Given the description of an element on the screen output the (x, y) to click on. 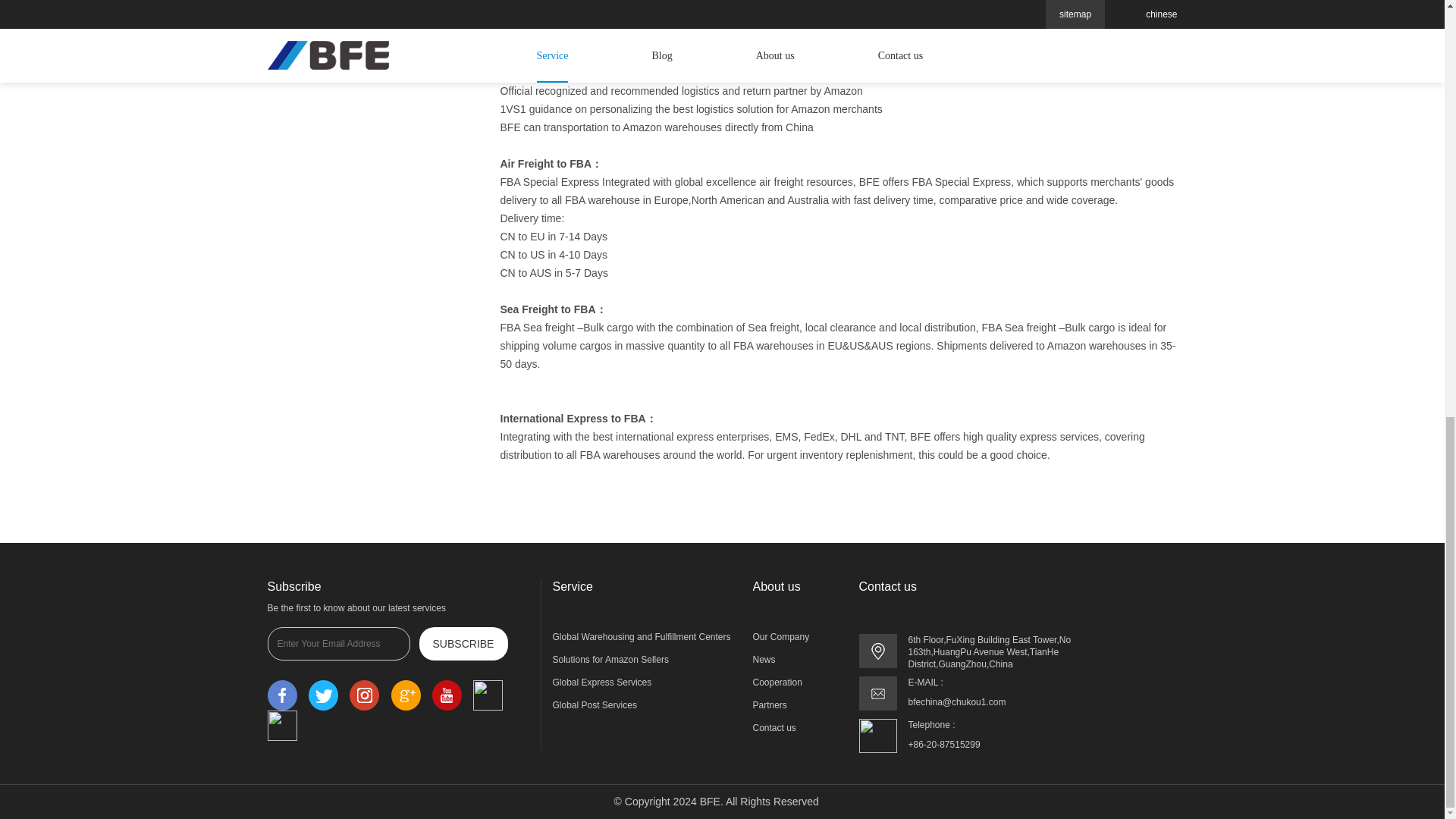
SUBSCRIBE (462, 643)
SUBSCRIBE (462, 643)
